Given the description of an element on the screen output the (x, y) to click on. 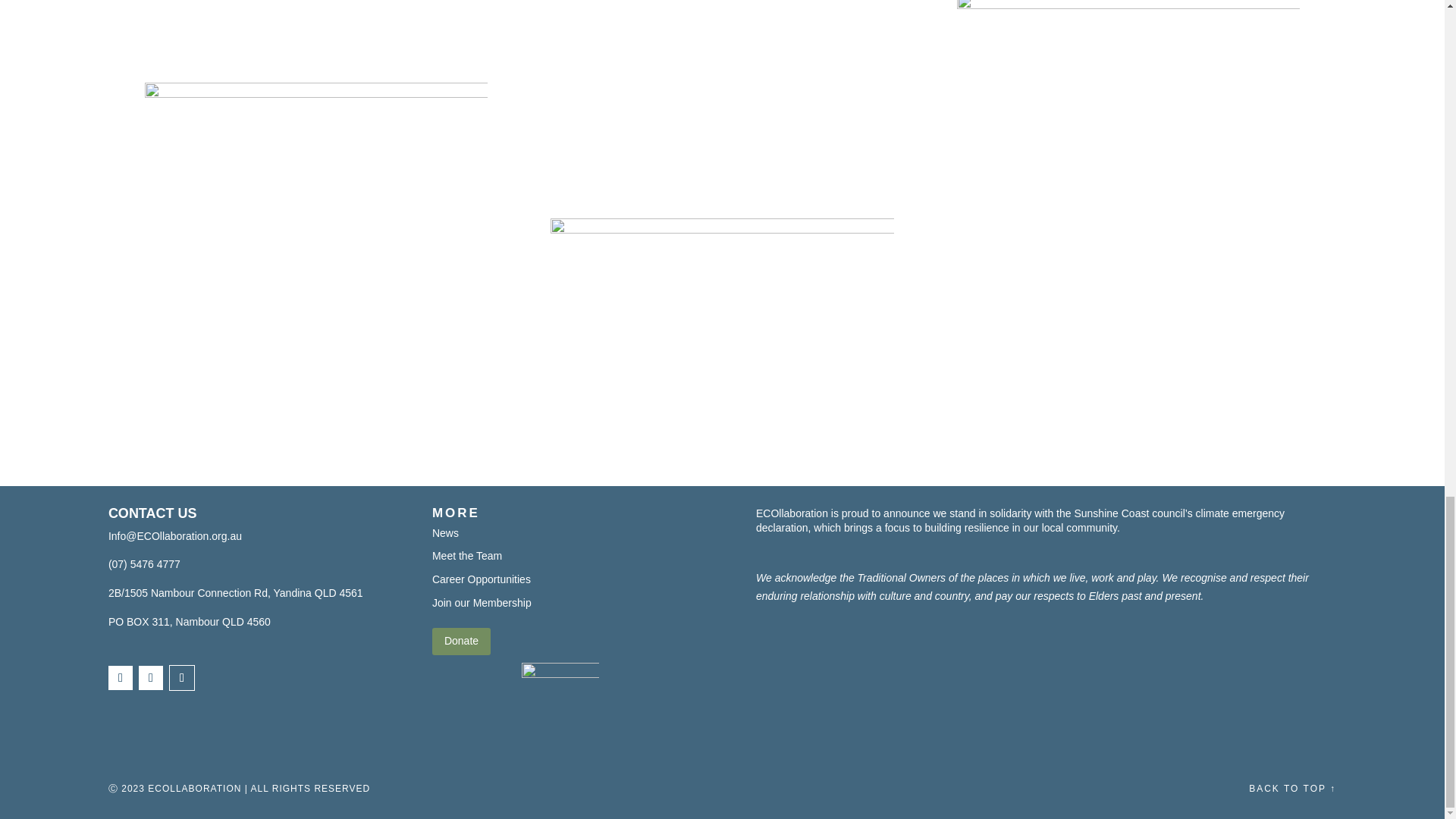
Mapleton Landfill (315, 210)
Donate (461, 641)
Join our Membership (481, 603)
Career Opportunities (481, 579)
SC Natural Areas Management Heslop Park2 (721, 314)
Follow on LinkedIn (181, 678)
SC Natural Areas Management Triunia ER1 (721, 93)
SC Natural Areas Management CoastalReveg3 (315, 25)
Follow on Instagram (150, 677)
Join our Membership (481, 603)
News (445, 532)
Meet the Team (467, 555)
Follow on Facebook (119, 677)
